Given the description of an element on the screen output the (x, y) to click on. 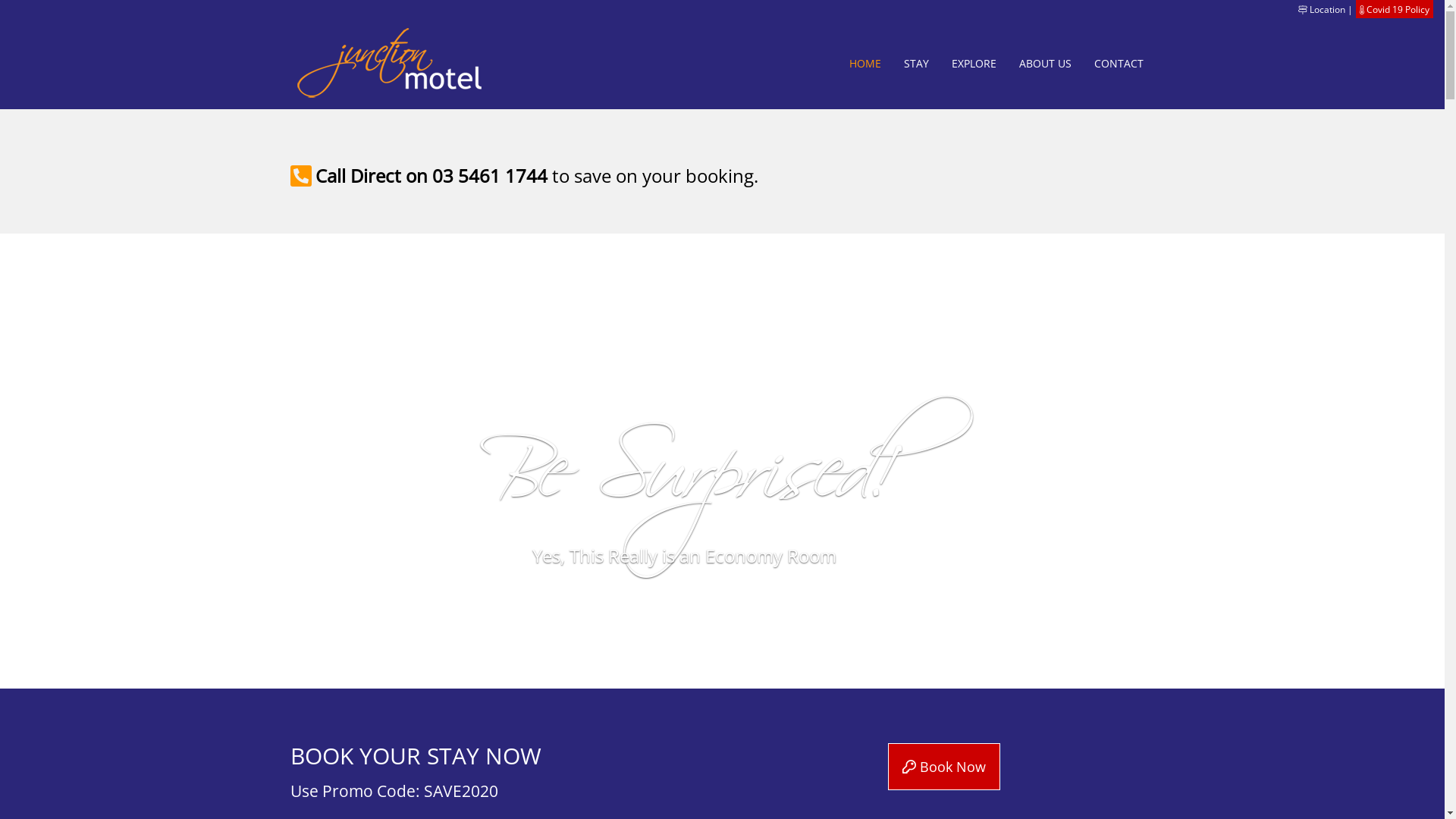
Junction Motel, Maryborough Element type: hover (391, 63)
HOME Element type: text (864, 63)
ABOUT US Element type: text (1044, 63)
Location | Element type: text (1325, 8)
Book Now Element type: text (944, 766)
CONTACT Element type: text (1118, 63)
Covid 19 Policy Element type: text (1397, 9)
STAY Element type: text (915, 63)
EXPLORE Element type: text (973, 63)
